Given the description of an element on the screen output the (x, y) to click on. 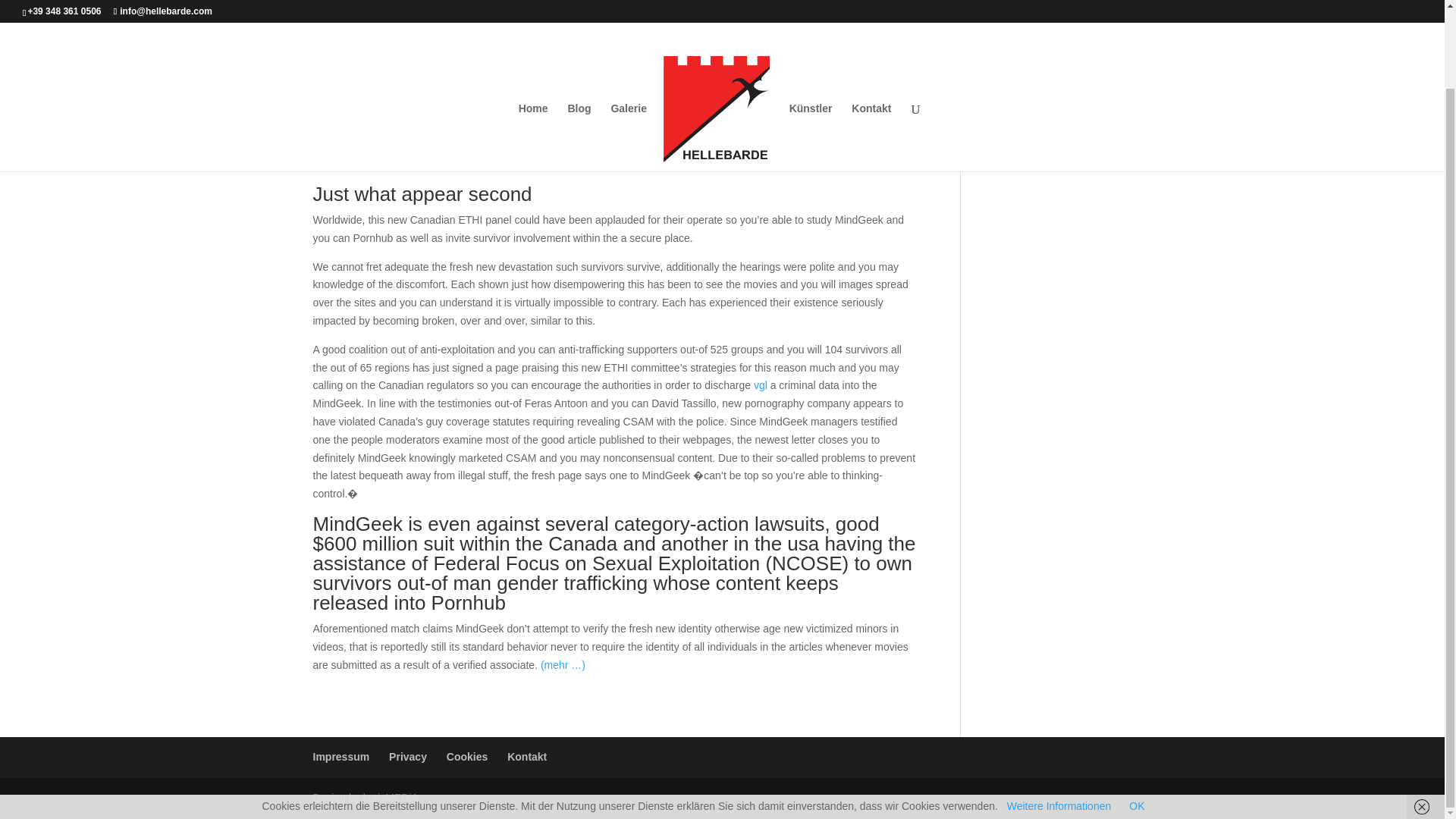
OK (1136, 717)
Kontakt (526, 756)
Privacy (407, 756)
Weitere Informationen (1058, 717)
Cookies (466, 756)
vgl (760, 385)
Impressum (341, 756)
